Given the description of an element on the screen output the (x, y) to click on. 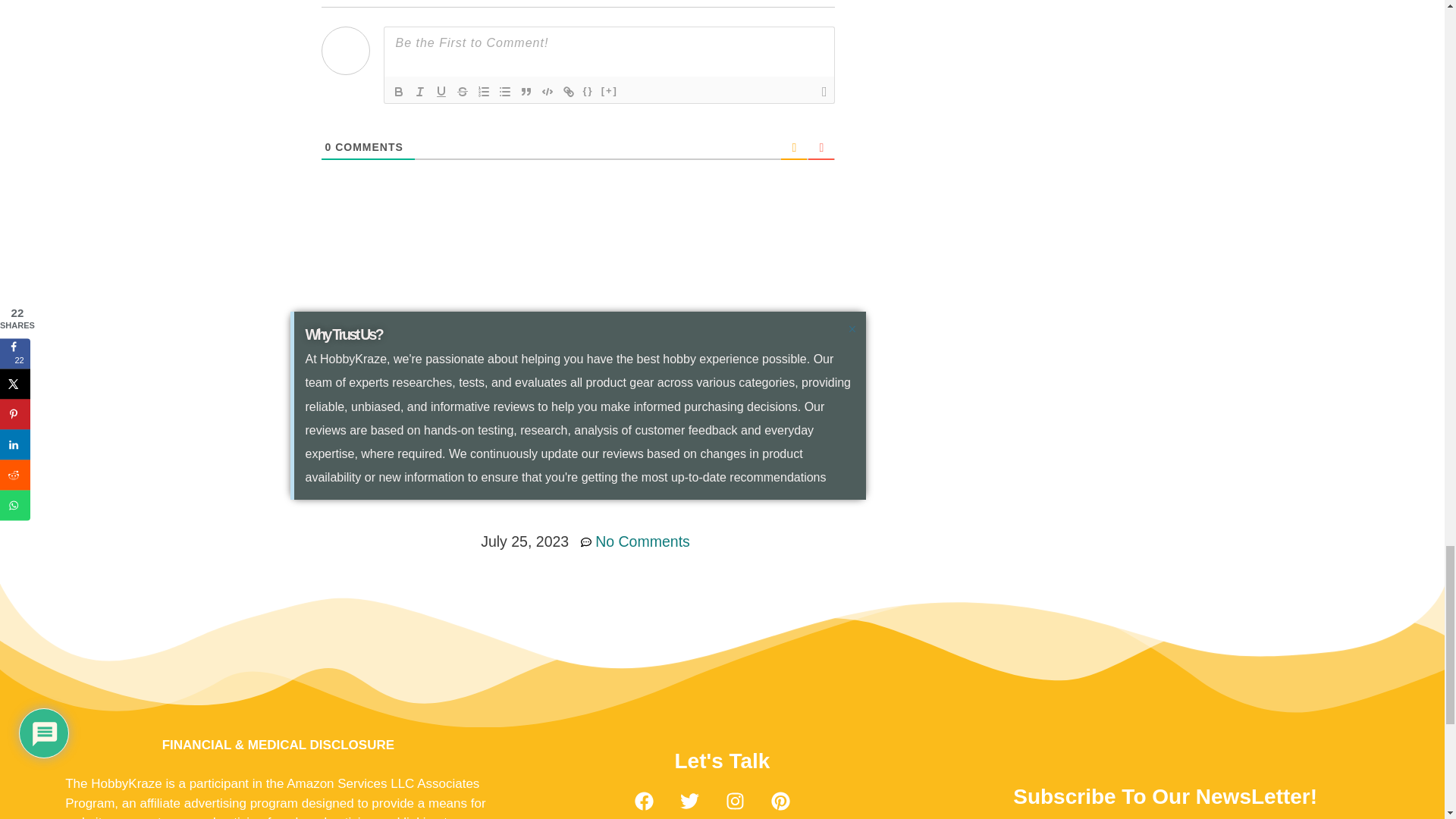
Italic (419, 91)
bullet (505, 91)
ordered (484, 91)
Ordered List (484, 91)
Strike (462, 91)
Underline (440, 91)
Bold (398, 91)
